Given the description of an element on the screen output the (x, y) to click on. 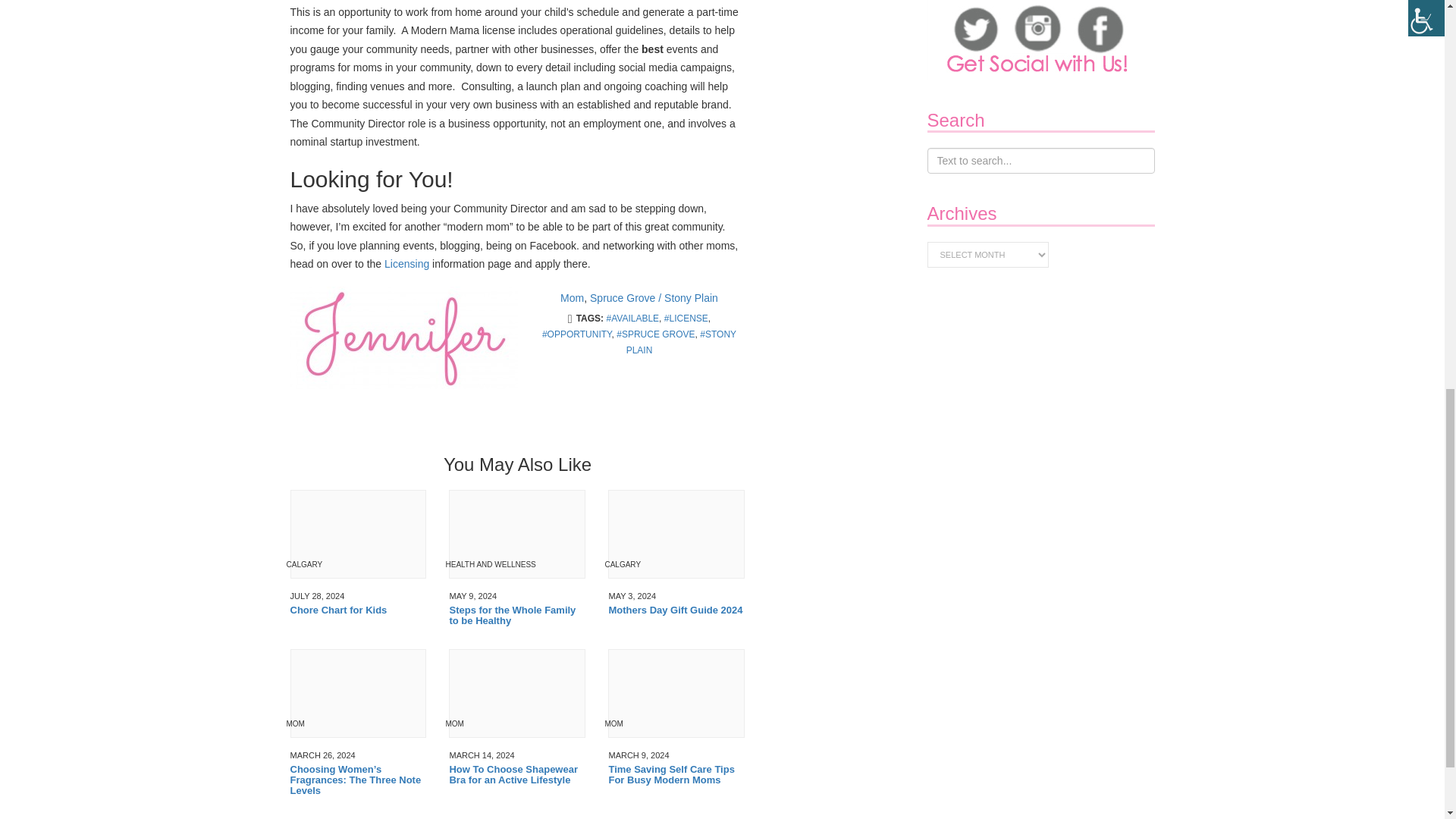
Steps for the Whole Family to be Healthy (516, 616)
Search for: (1040, 160)
How To Choose Shapewear Bra for an Active Lifestyle (516, 775)
Mom (571, 297)
Time Saving Self Care Tips For Busy Modern Moms (676, 775)
Licensing (406, 263)
Mothers Day Gift Guide 2024 (676, 610)
Chore Chart for Kids (357, 610)
